Given the description of an element on the screen output the (x, y) to click on. 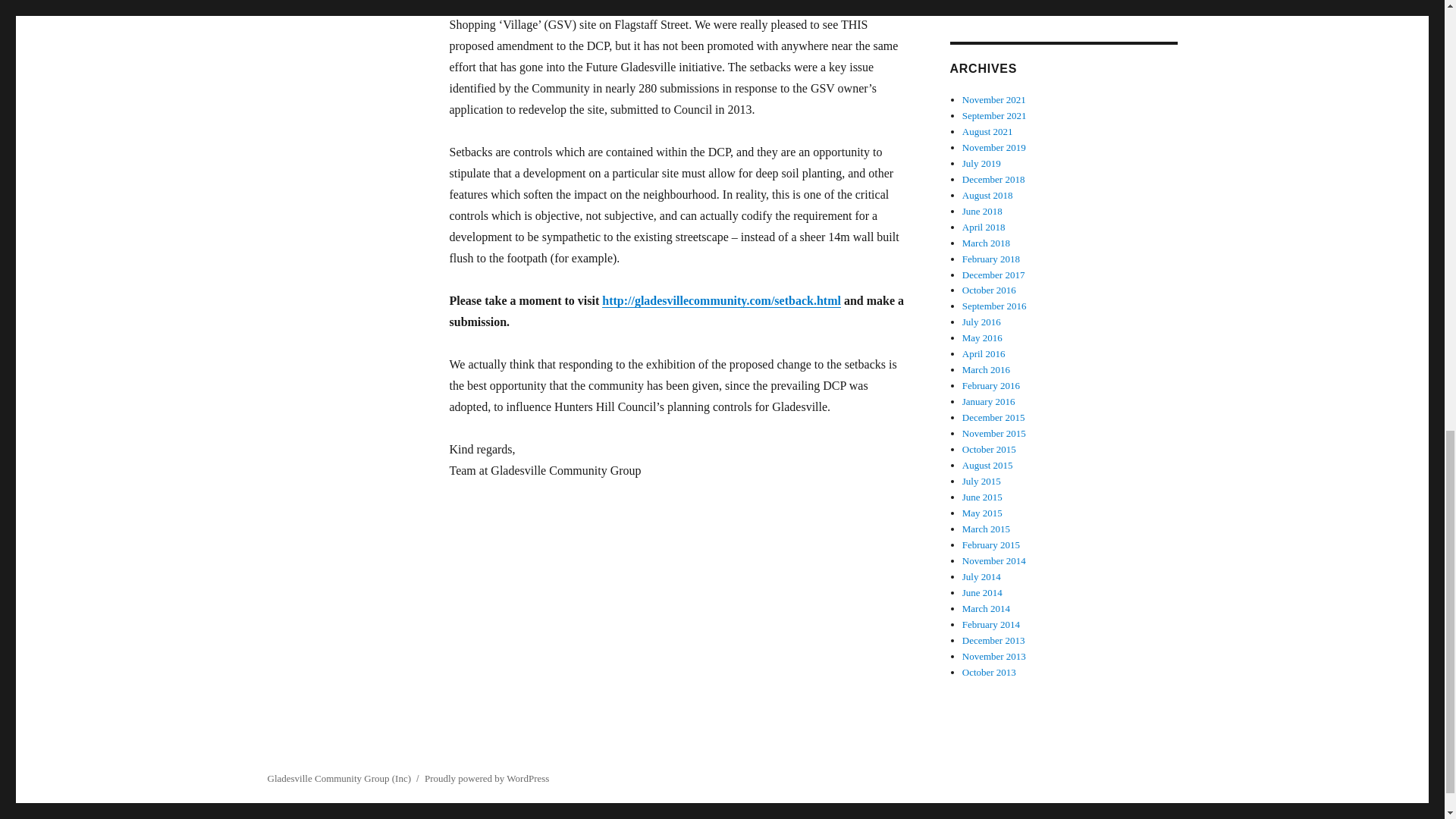
October 2016 (989, 289)
August 2018 (987, 194)
April 2018 (984, 226)
September 2016 (994, 306)
December 2018 (993, 179)
December 2017 (993, 274)
September 2021 (994, 115)
February 2018 (991, 258)
June 2018 (982, 211)
November 2019 (994, 147)
August 2021 (987, 131)
July 2019 (981, 163)
November 2021 (994, 99)
March 2018 (986, 242)
